Given the description of an element on the screen output the (x, y) to click on. 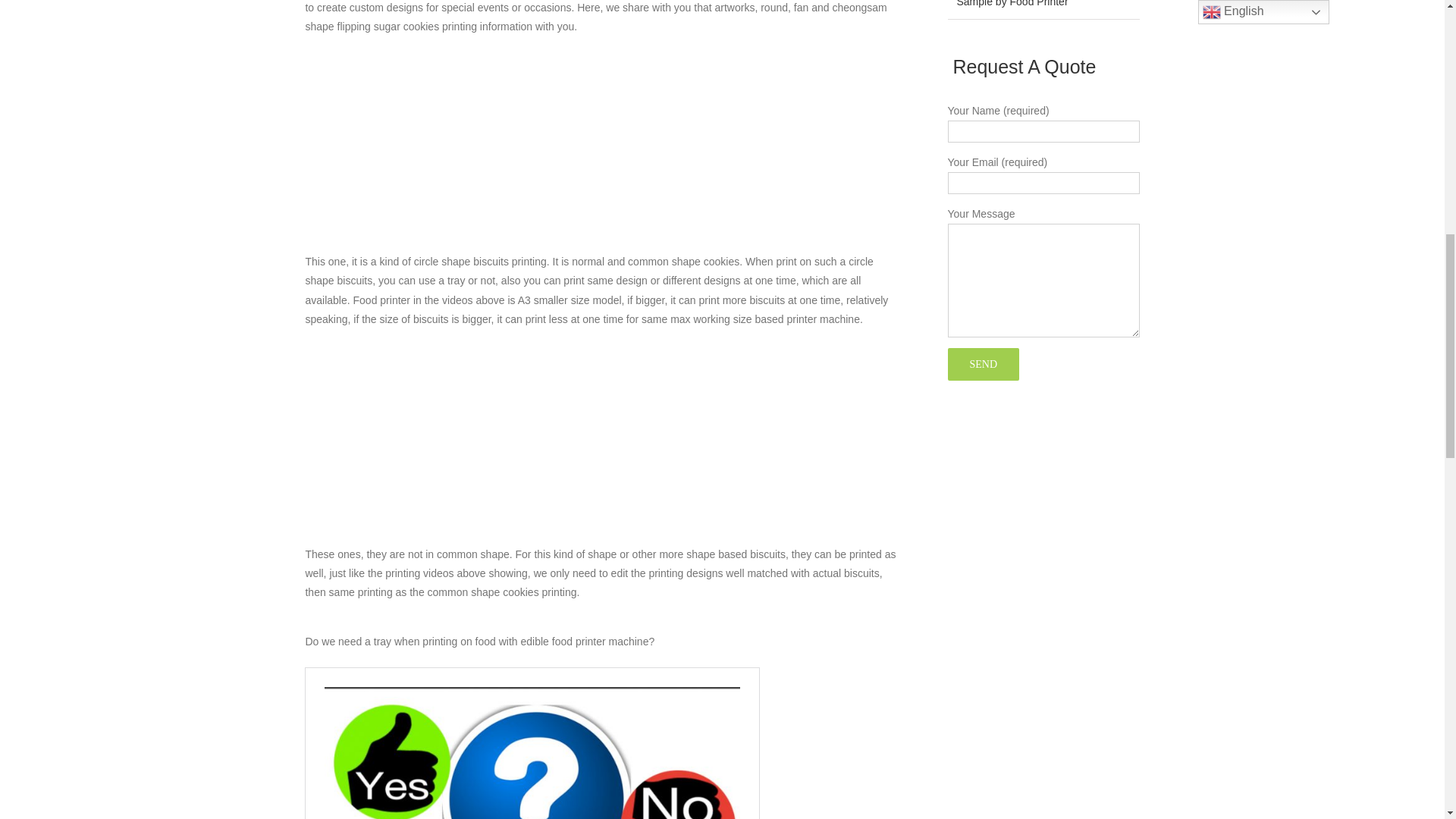
YouTube video player 3 (446, 444)
YouTube video player 4 (755, 444)
YouTube video player 1 (446, 151)
Send (983, 364)
YouTube video player 2 (755, 151)
